Given the description of an element on the screen output the (x, y) to click on. 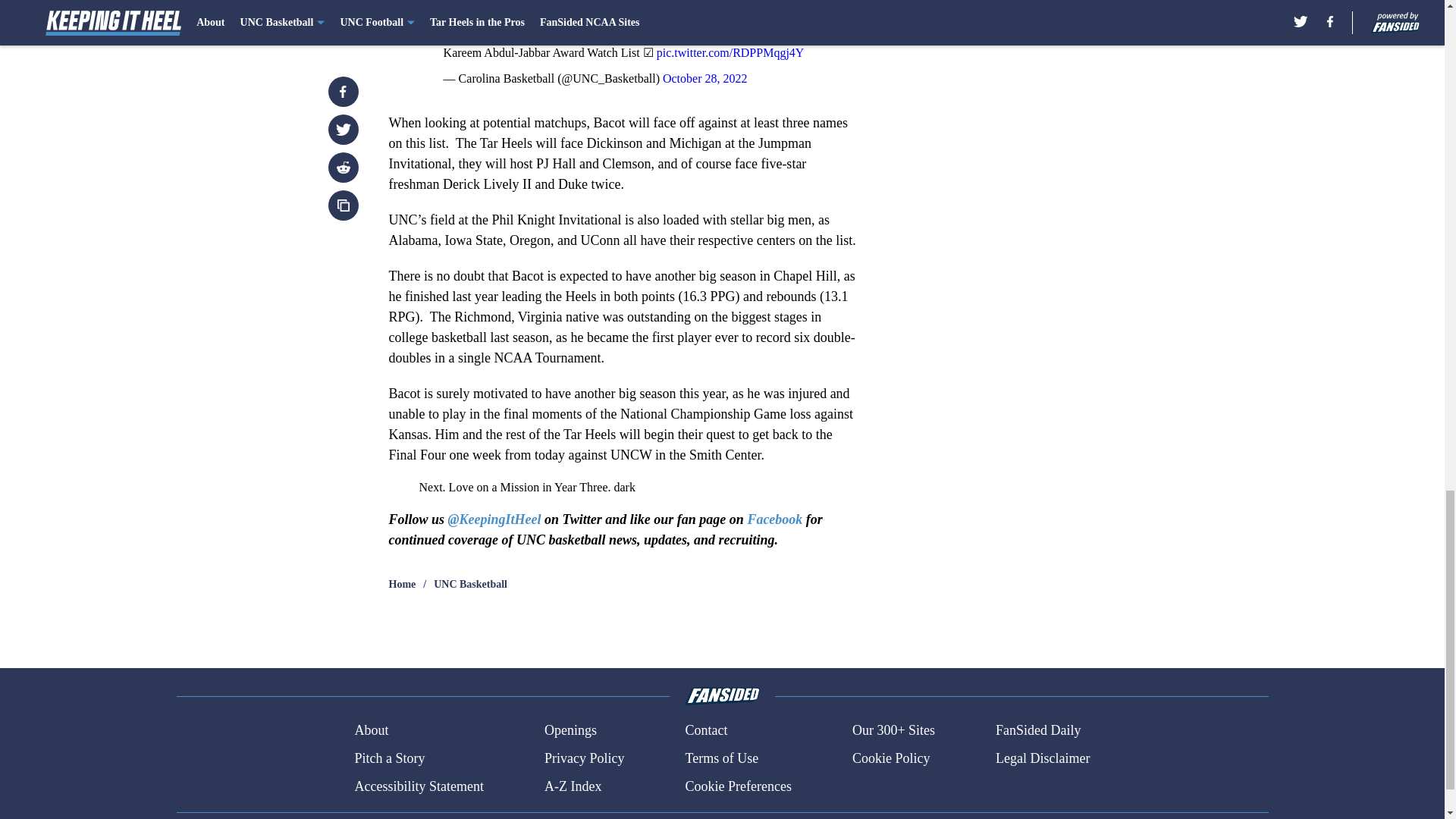
UNC Basketball (469, 584)
About (370, 730)
Accessibility Statement (418, 786)
FanSided Daily (1038, 730)
Cookie Policy (890, 758)
October 28, 2022 (705, 78)
Contact (705, 730)
Privacy Policy (584, 758)
Openings (570, 730)
Legal Disclaimer (1042, 758)
